Given the description of an element on the screen output the (x, y) to click on. 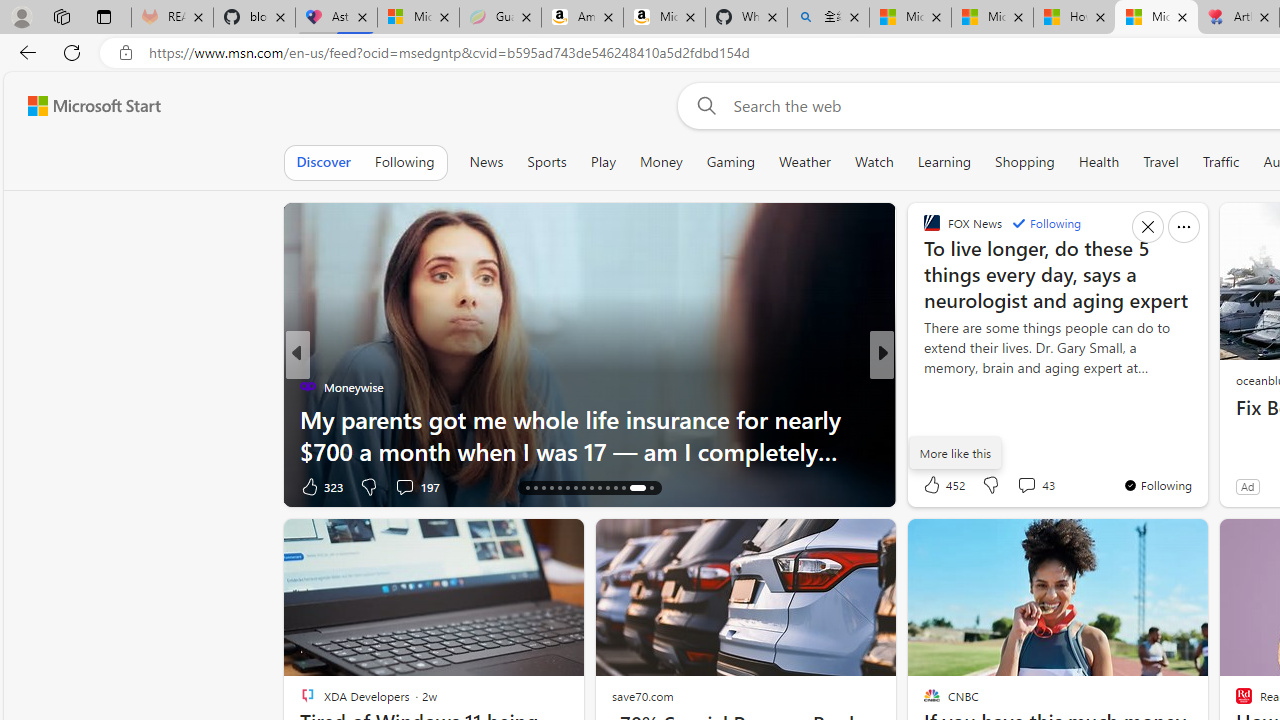
323 Like (320, 486)
AutomationID: tab-30 (650, 487)
AutomationID: tab-25 (599, 487)
Health (1099, 161)
452 Like (942, 484)
AutomationID: tab-22 (574, 487)
AutomationID: tab-16 (527, 487)
View comments 43 Comment (1026, 485)
Shopping (1025, 162)
Play (602, 161)
